Given the description of an element on the screen output the (x, y) to click on. 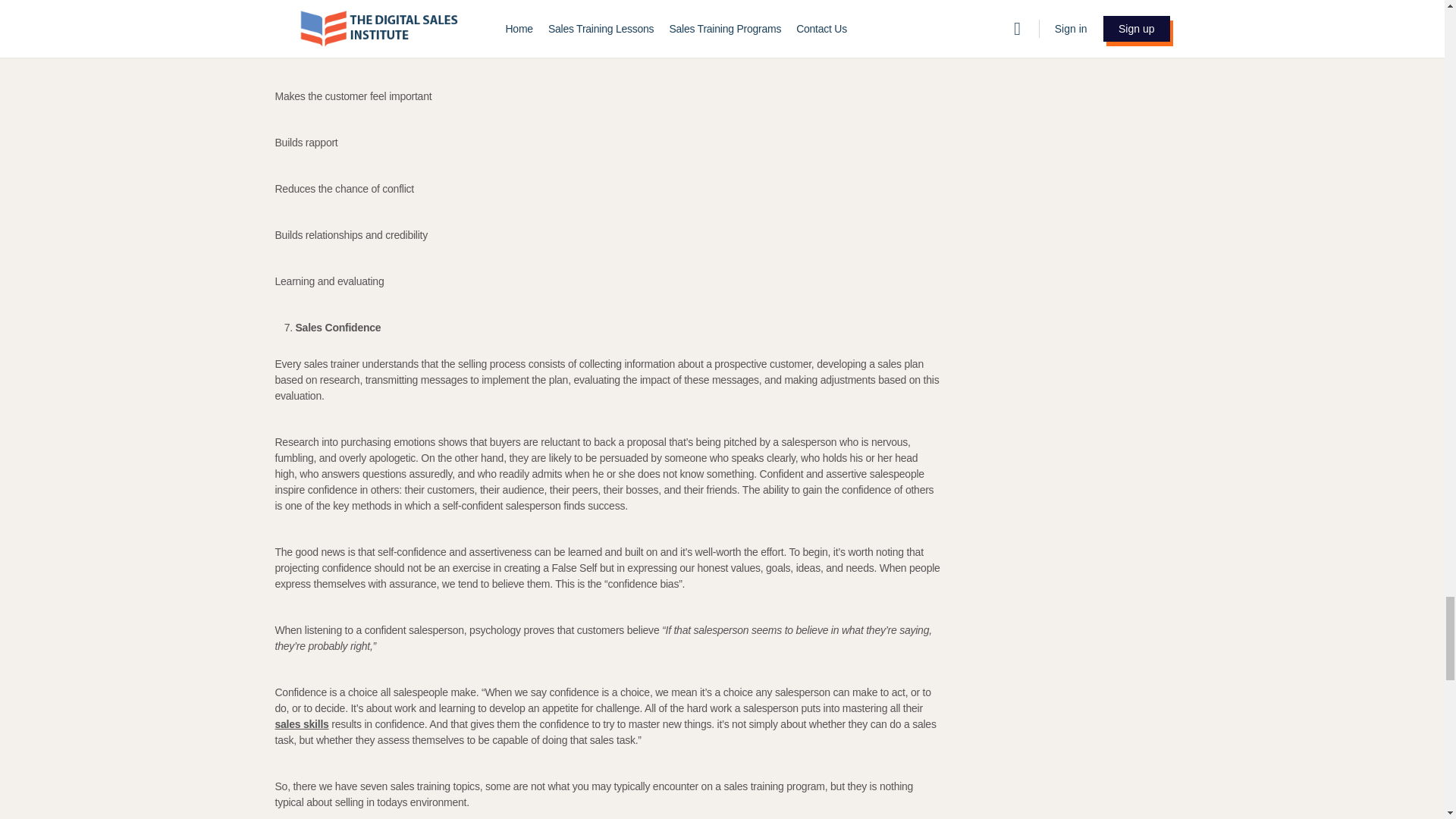
sales skills (302, 724)
